Given the description of an element on the screen output the (x, y) to click on. 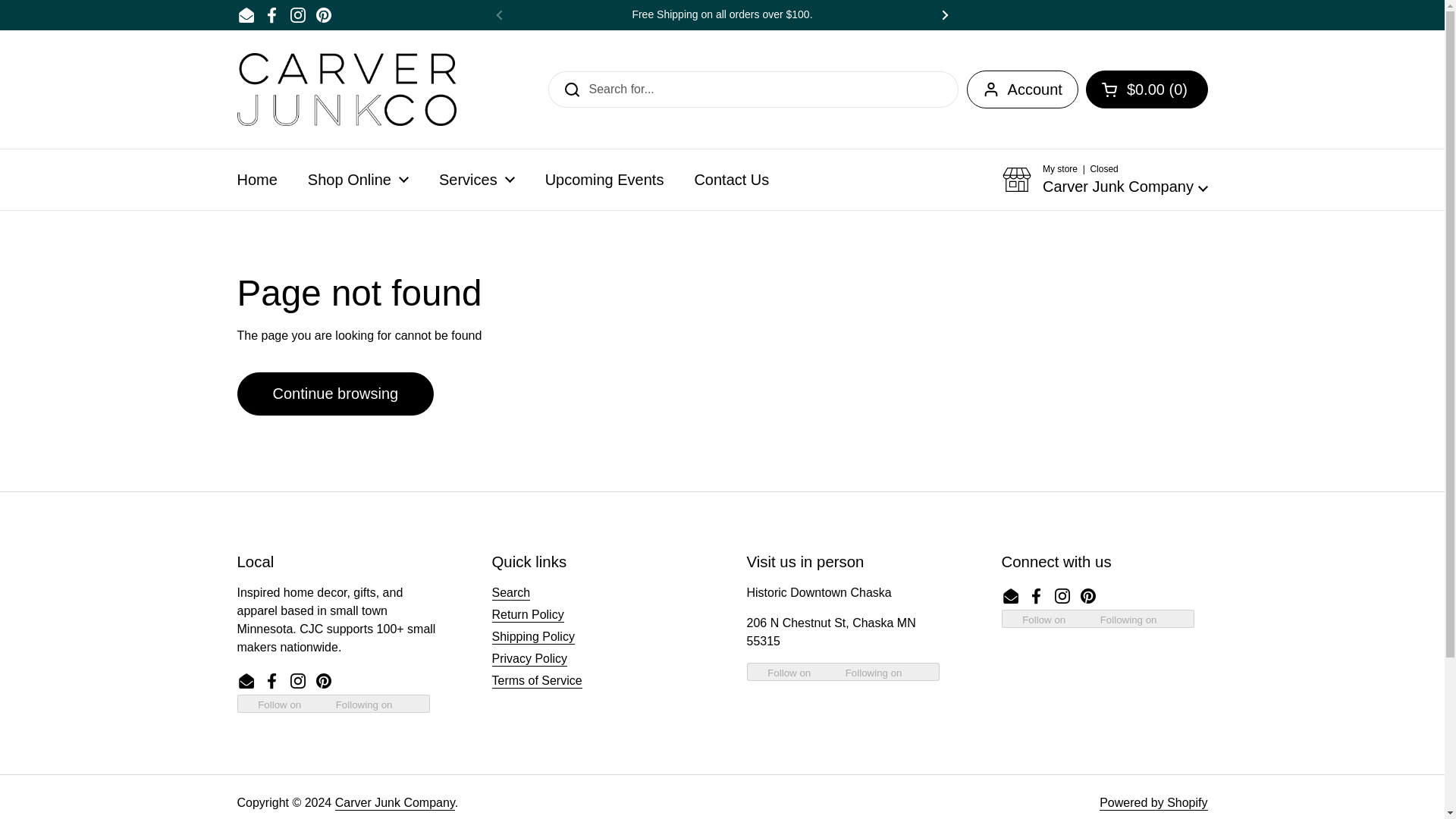
Shop Online (357, 179)
Home (256, 179)
Carver Junk Company (345, 89)
Facebook (271, 14)
Open cart (1147, 89)
Home (256, 179)
Account (1022, 89)
Instagram (296, 14)
Email (244, 14)
Pinterest (322, 14)
